Given the description of an element on the screen output the (x, y) to click on. 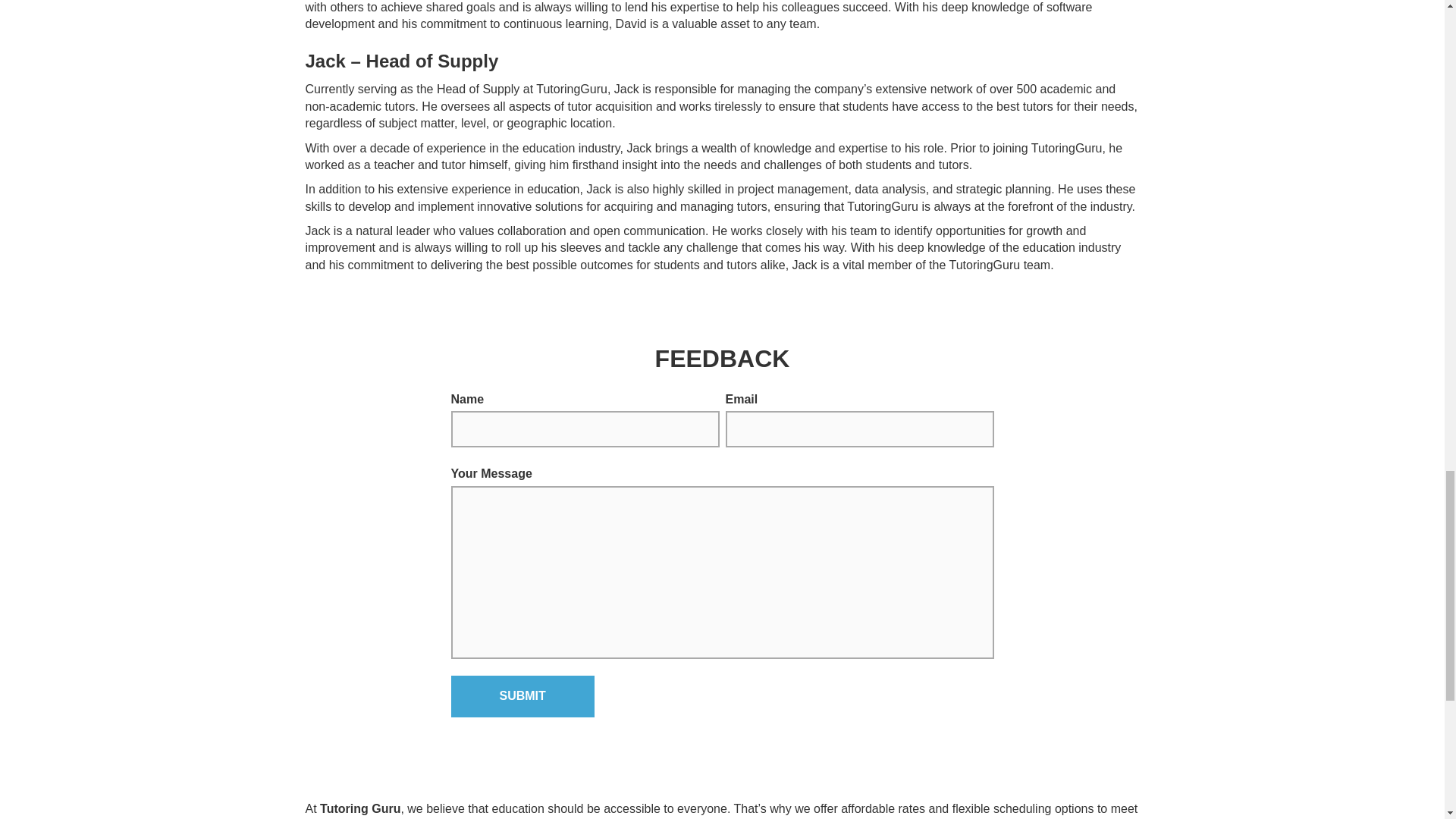
Submit (521, 695)
Submit (521, 695)
